Given the description of an element on the screen output the (x, y) to click on. 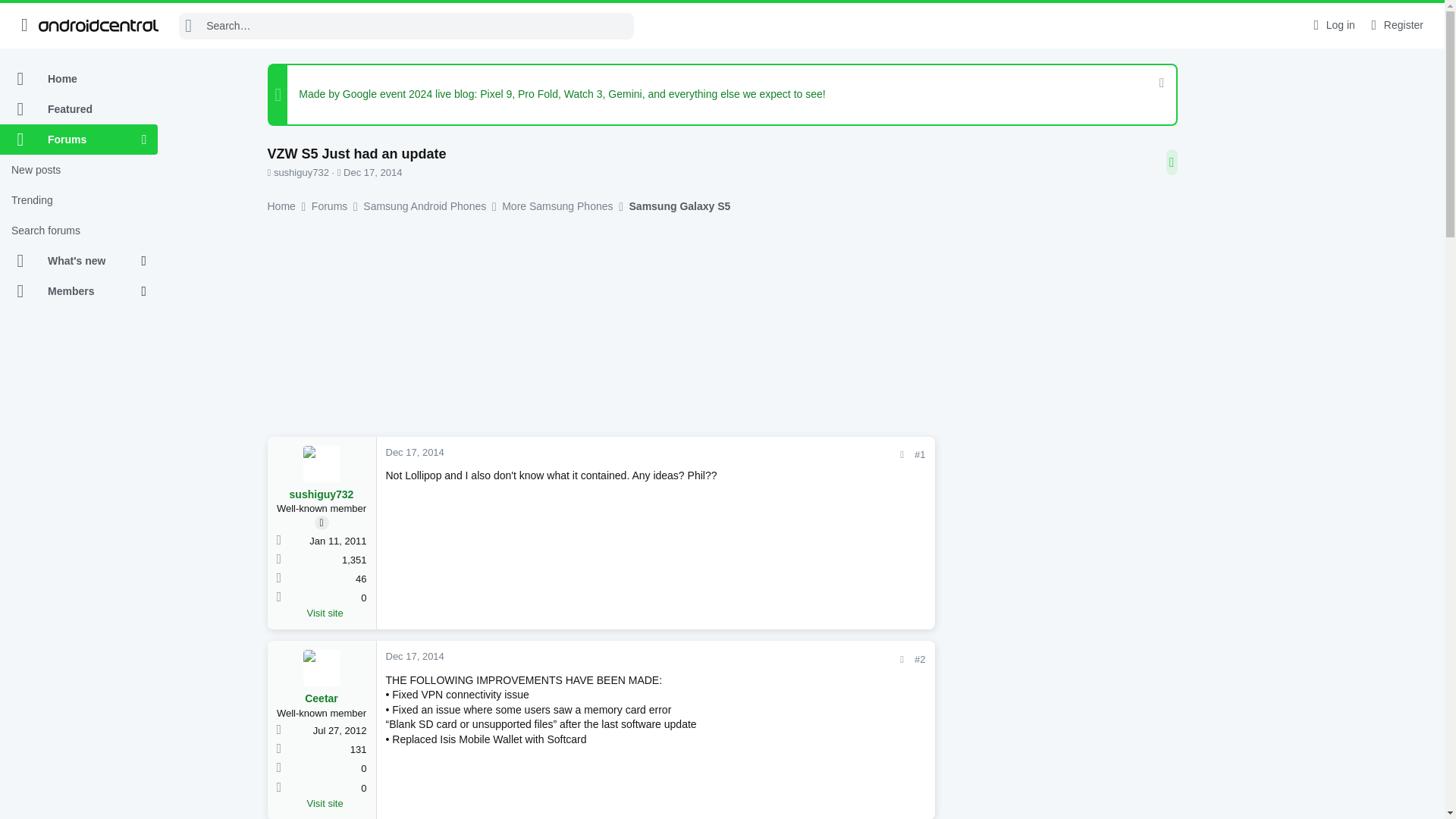
Original poster (321, 522)
Trending (78, 200)
Featured (78, 109)
Log in (1332, 24)
Register (1395, 24)
What's new (70, 260)
Dec 17, 2014 at 5:29 PM (372, 172)
Forums (70, 139)
New posts (78, 169)
Home (78, 78)
